Given the description of an element on the screen output the (x, y) to click on. 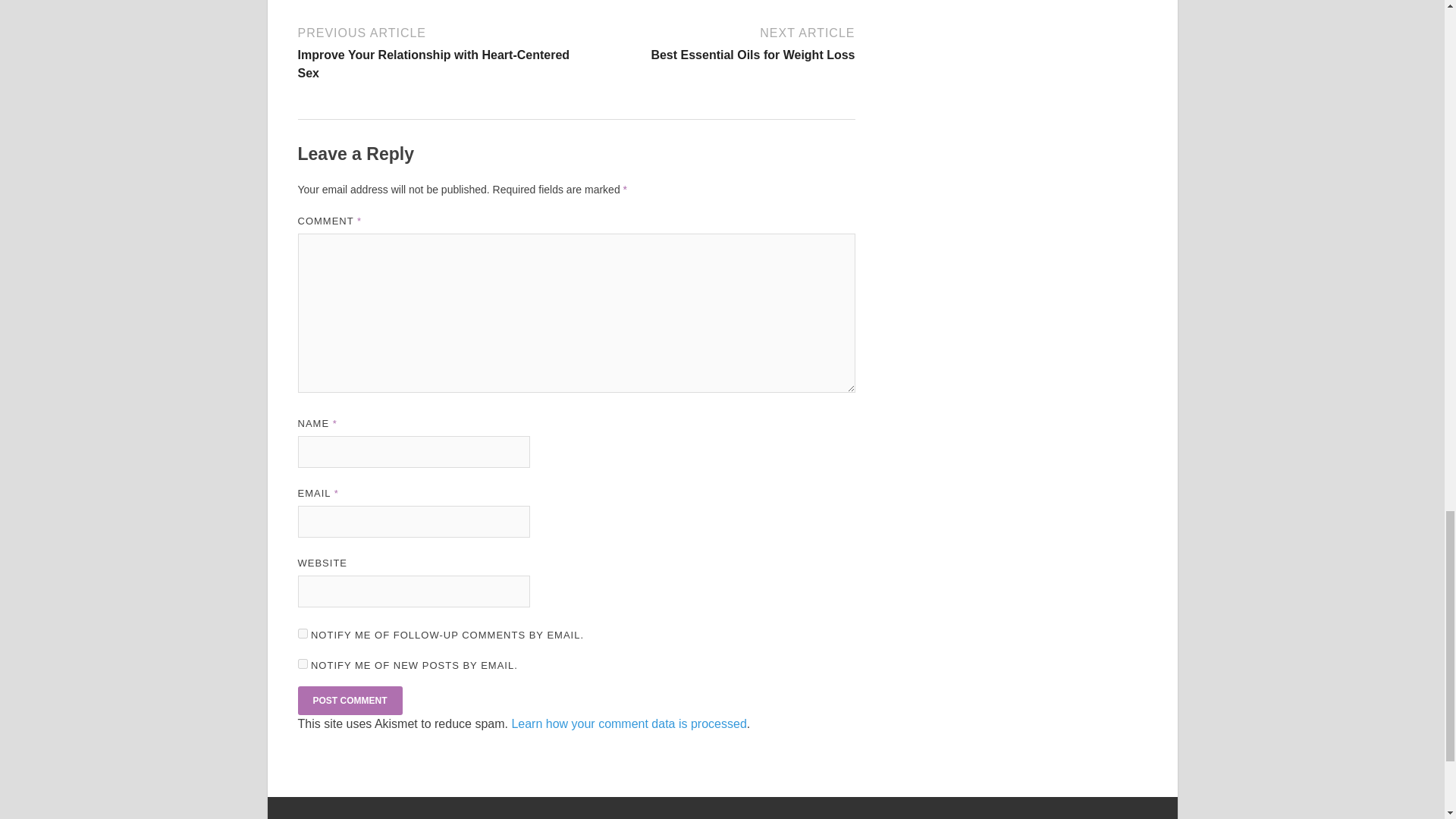
Post Comment (349, 700)
subscribe (717, 42)
subscribe (302, 633)
